Given the description of an element on the screen output the (x, y) to click on. 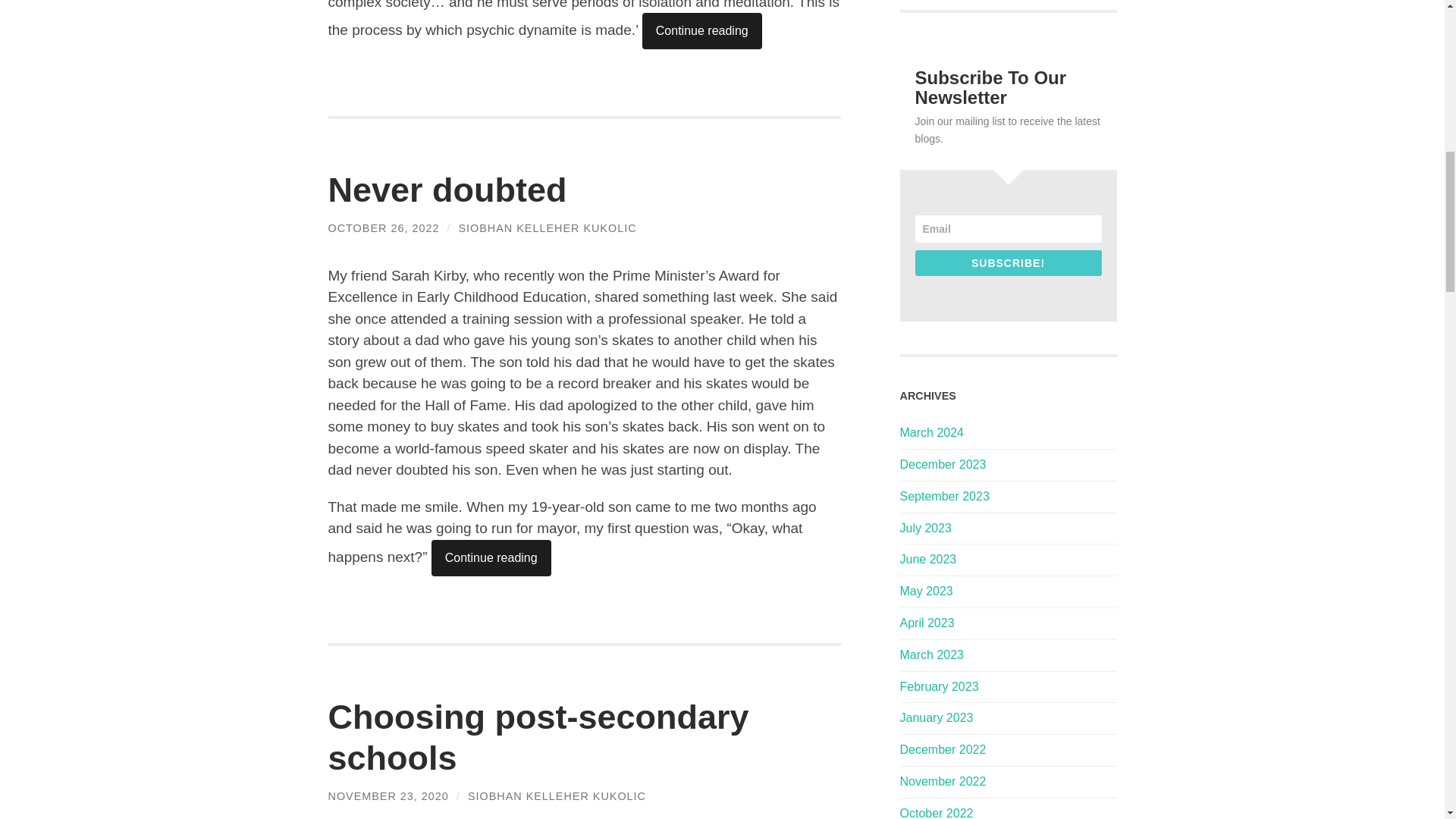
OCTOBER 26, 2022 (383, 227)
Continue reading (701, 31)
NOVEMBER 23, 2020 (387, 796)
SIOBHAN KELLEHER KUKOLIC (547, 227)
Continue reading (490, 557)
Choosing post-secondary schools (537, 737)
Posts by Siobhan Kelleher Kukolic (556, 796)
Posts by Siobhan Kelleher Kukolic (547, 227)
Never doubted (446, 189)
SIOBHAN KELLEHER KUKOLIC (556, 796)
